Given the description of an element on the screen output the (x, y) to click on. 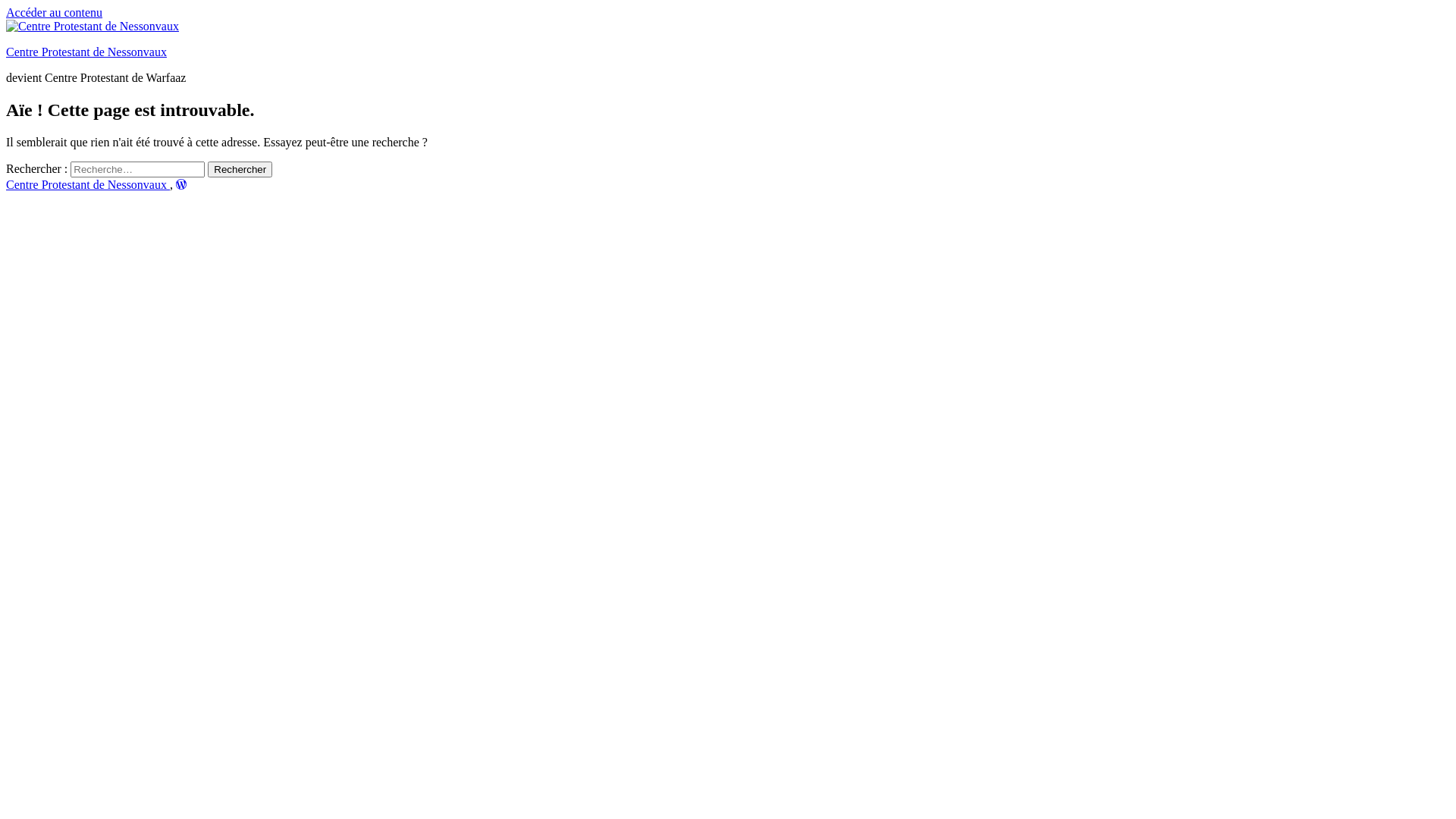
Rechercher Element type: text (239, 169)
Centre Protestant de Nessonvaux Element type: text (87, 184)
Centre Protestant de Nessonvaux Element type: text (86, 51)
